Given the description of an element on the screen output the (x, y) to click on. 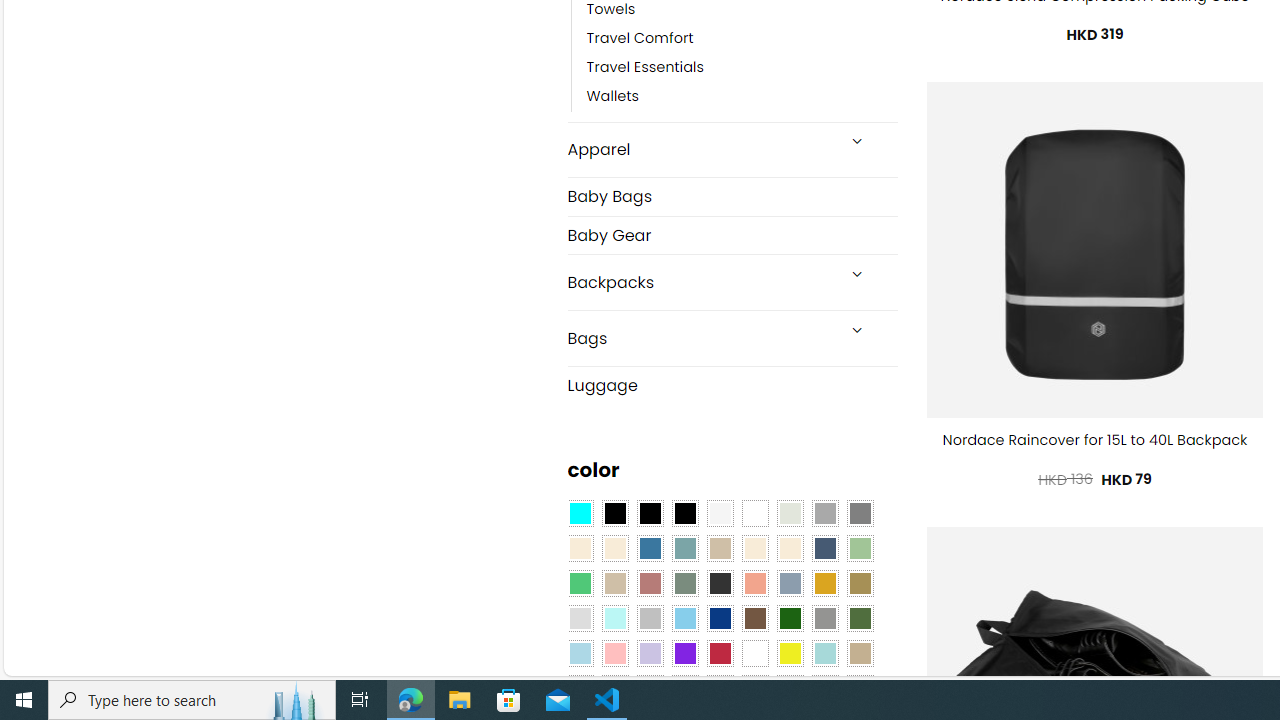
All Black (614, 514)
Mint (614, 619)
Baby Gear (732, 234)
Aqua Blue (579, 514)
Gold (824, 583)
Khaki (859, 653)
